Given the description of an element on the screen output the (x, y) to click on. 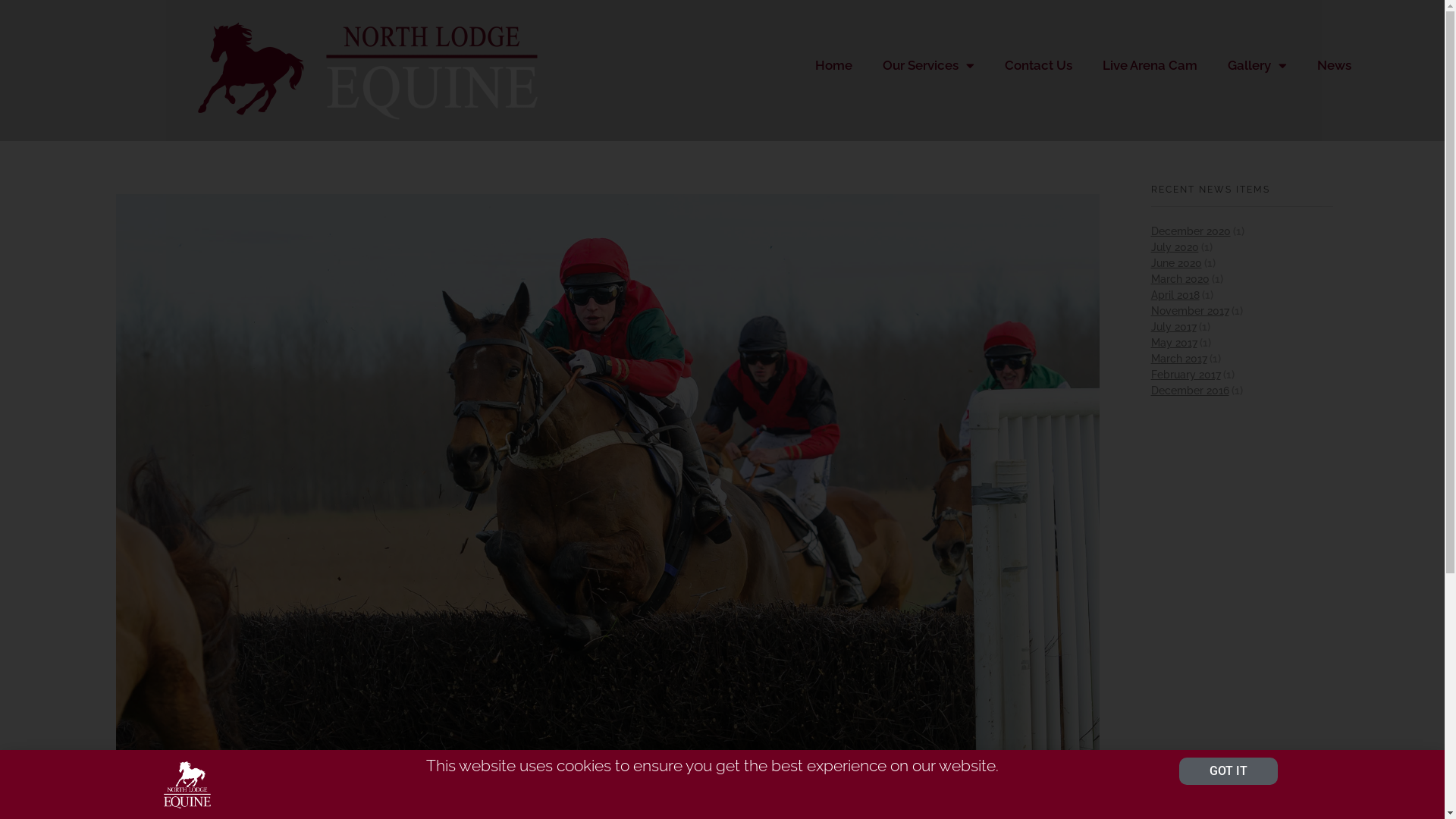
November 2017 Element type: text (1190, 310)
June 2020 Element type: text (1176, 263)
February 2017 Element type: text (1185, 374)
July 2020 Element type: text (1174, 247)
March 2020 Element type: text (1180, 279)
March 2017 Element type: text (1179, 358)
April 2018 Element type: text (1175, 294)
Gallery Element type: text (1257, 64)
December 2016 Element type: text (1190, 390)
December 2020 Element type: text (1190, 231)
News Element type: text (1334, 64)
Contact Us Element type: text (1038, 64)
GOT IT Element type: text (1228, 770)
Live Arena Cam Element type: text (1149, 64)
NLE Trans Horiz Logo wHITE Element type: hover (360, 70)
Our Services Element type: text (928, 64)
July 2017 Element type: text (1173, 326)
May 2017 Element type: text (1174, 342)
Home Element type: text (833, 64)
